Given the description of an element on the screen output the (x, y) to click on. 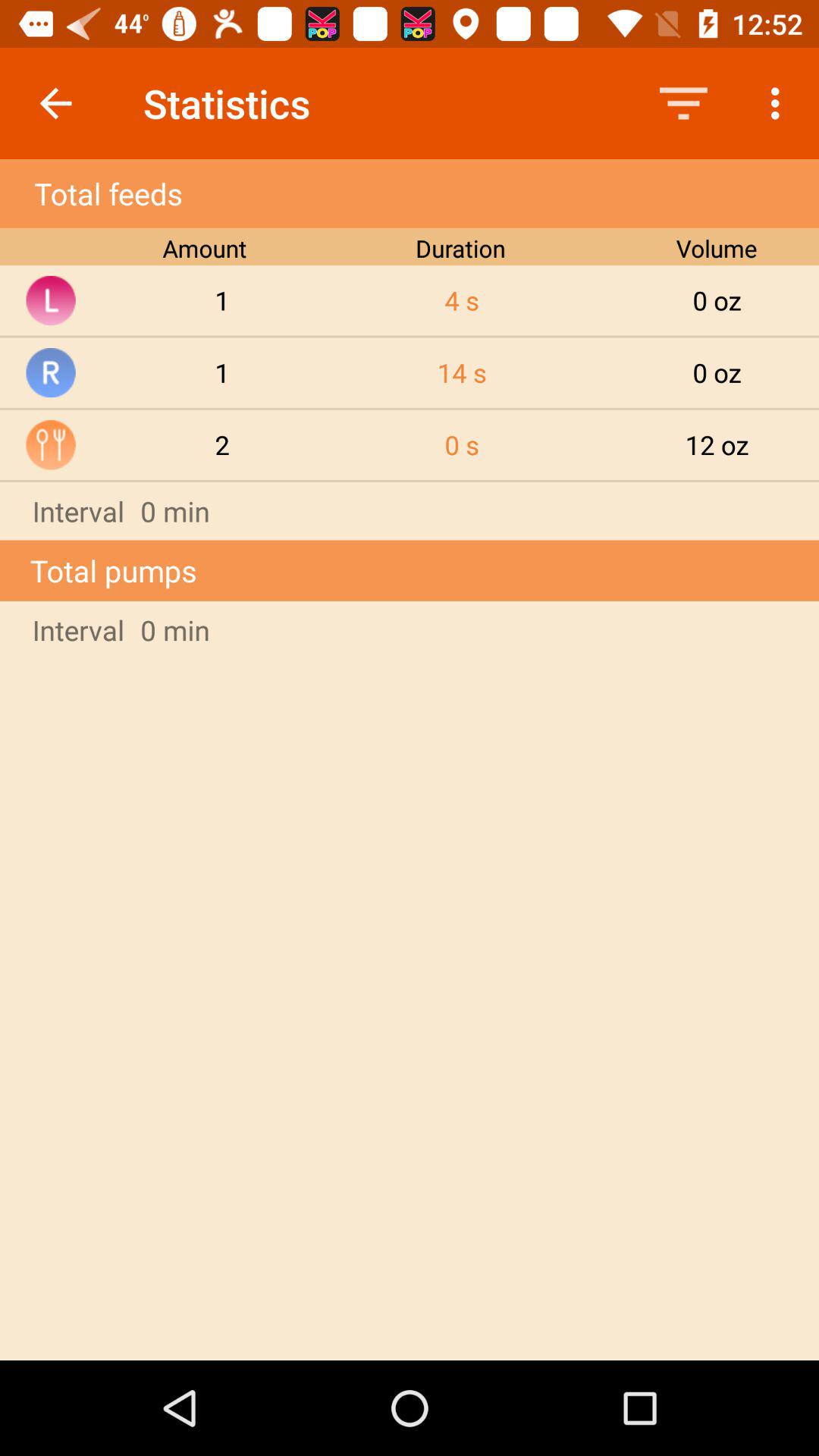
press the 0 s (461, 445)
